Given the description of an element on the screen output the (x, y) to click on. 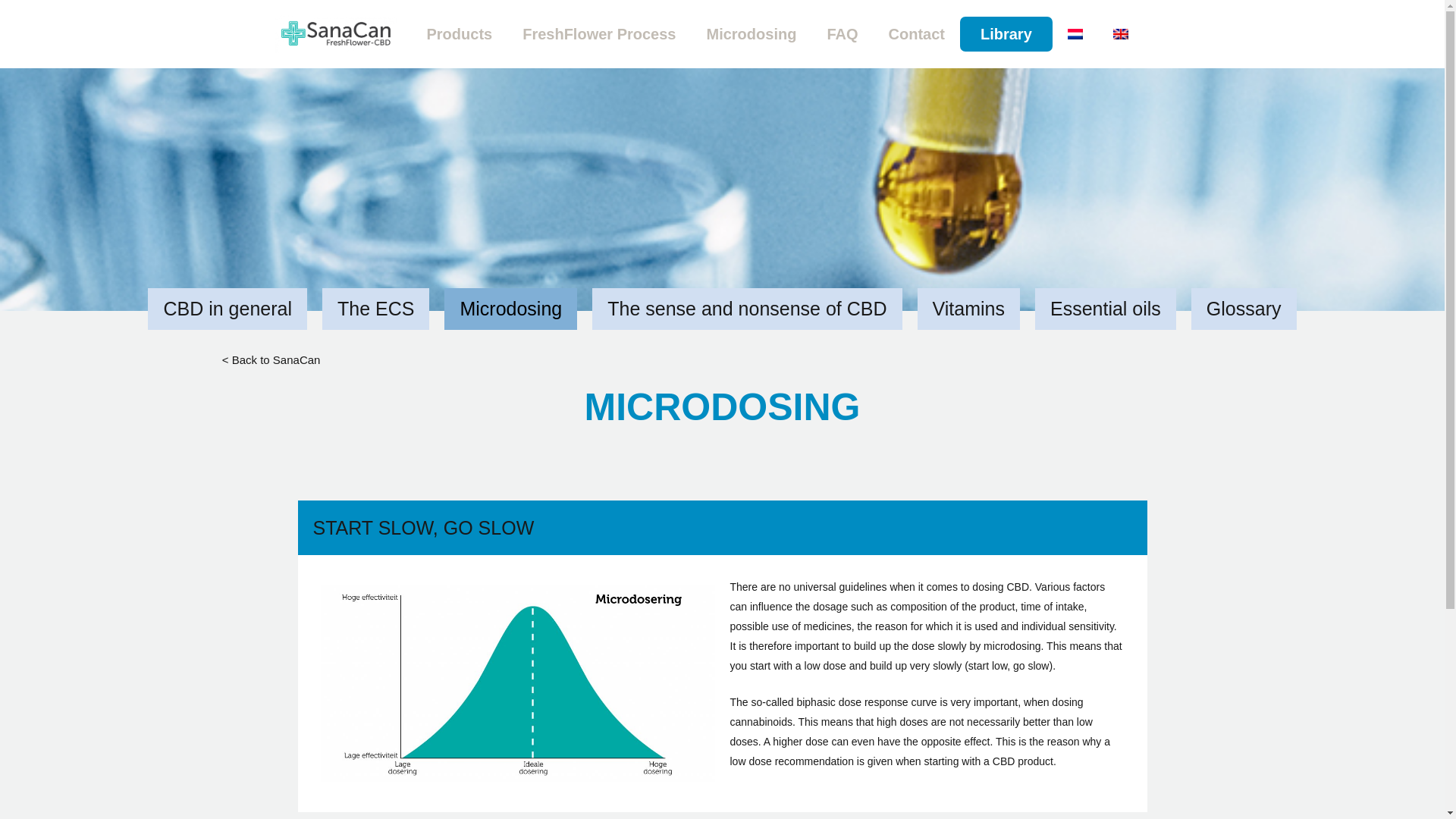
The ECS (375, 309)
Products (458, 33)
Vitamins (968, 309)
Microdosing (751, 33)
The sense and nonsense of CBD (746, 309)
FreshFlower Process (598, 33)
FAQ (841, 33)
Microdosing (510, 309)
Contact (916, 33)
Library (1005, 33)
CBD in general (227, 309)
